Given the description of an element on the screen output the (x, y) to click on. 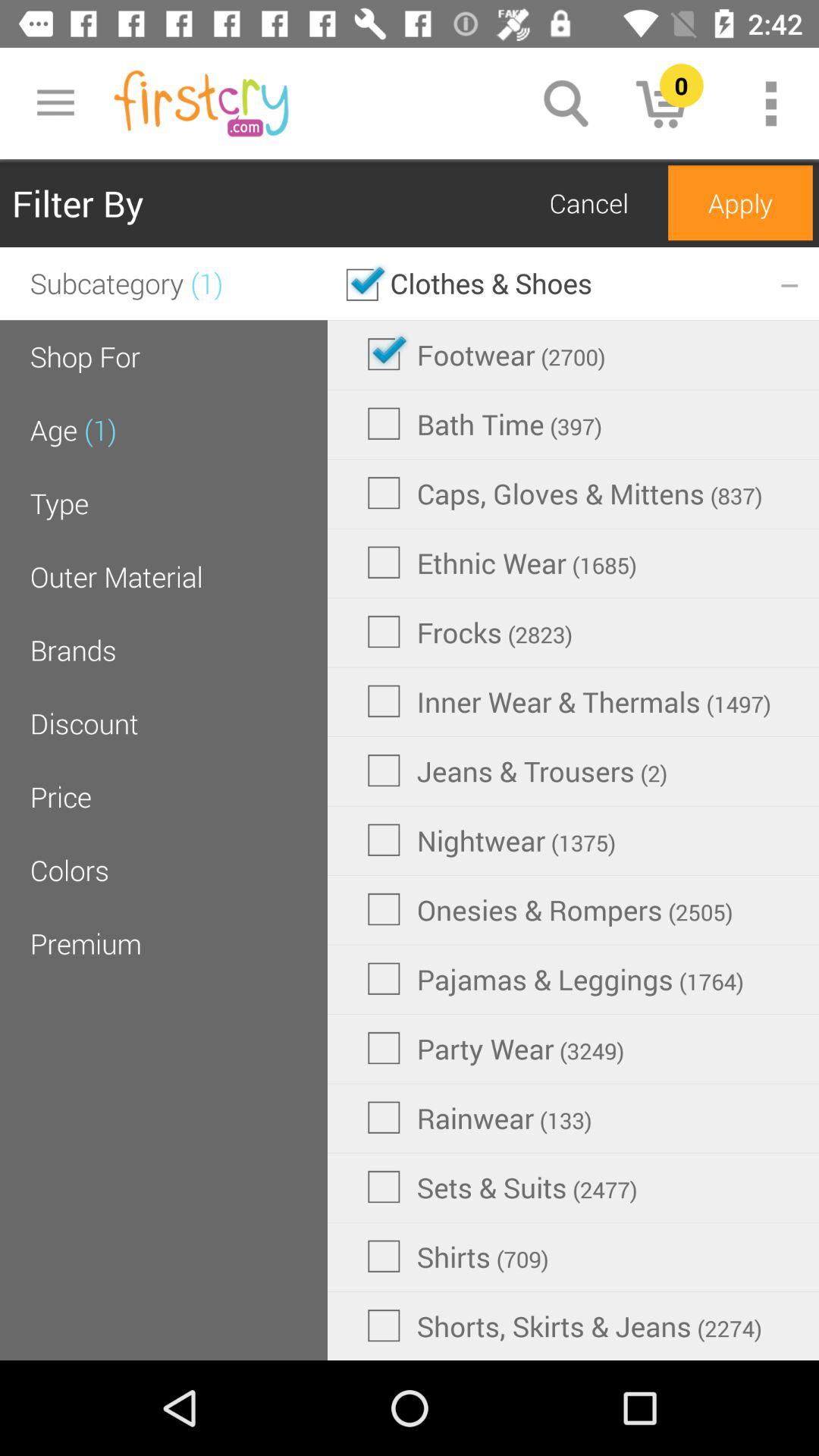
press icon below age (1) (59, 503)
